Given the description of an element on the screen output the (x, y) to click on. 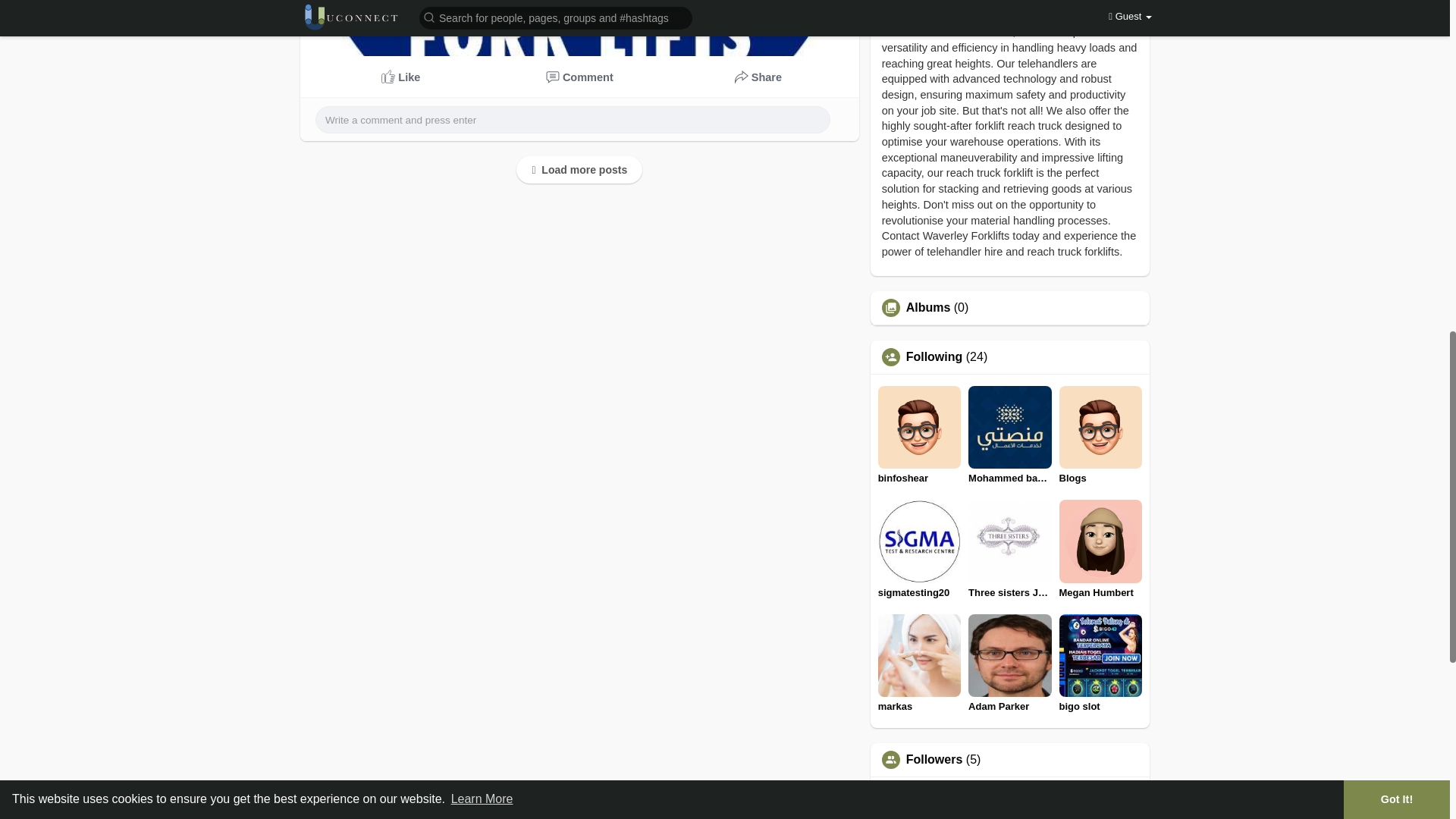
sscasn info (1100, 803)
Followers (933, 759)
Albums (927, 307)
Comments (579, 77)
antonio wilson (1009, 803)
Following (933, 357)
Share (757, 77)
